Given the description of an element on the screen output the (x, y) to click on. 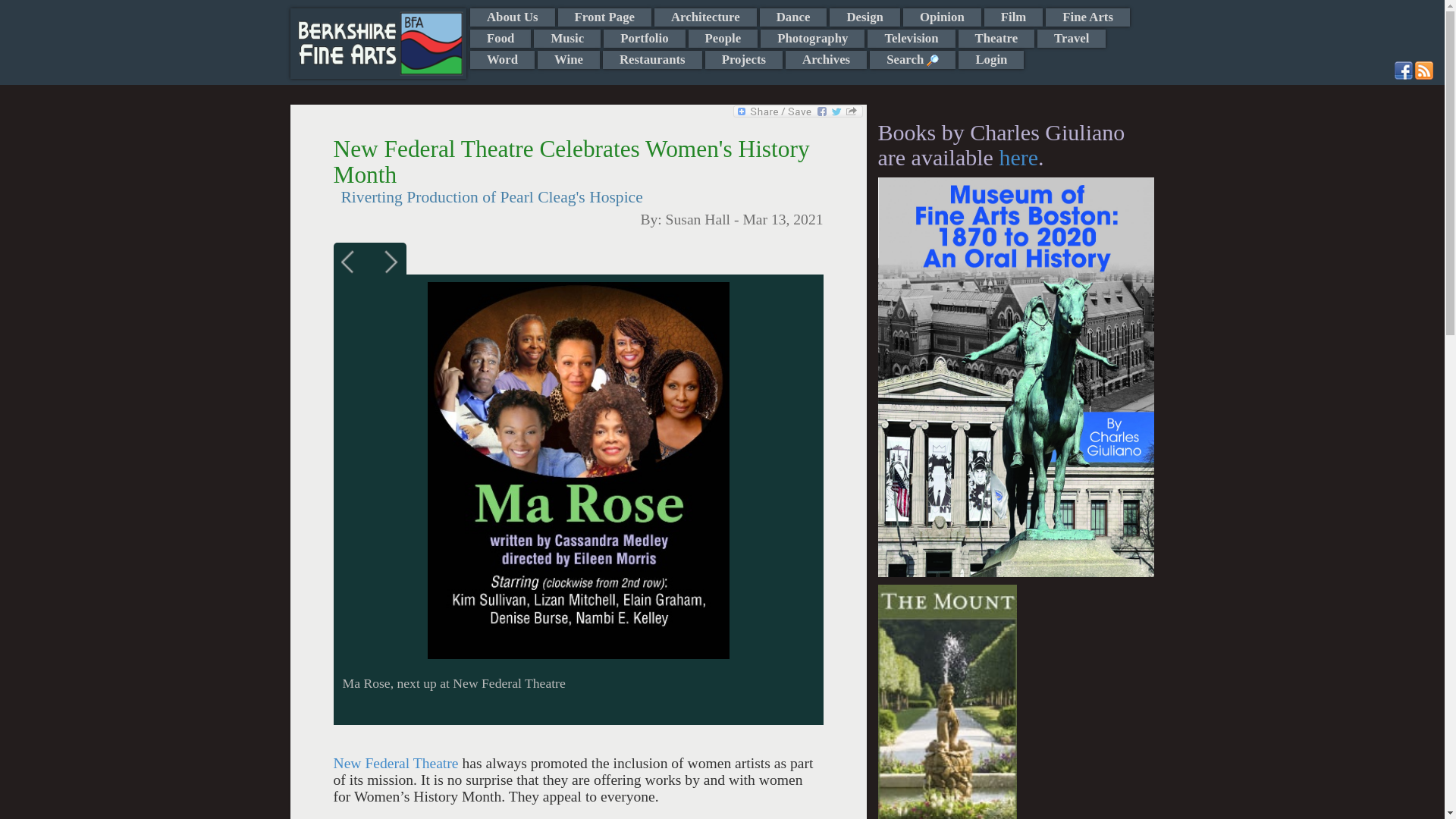
Design (864, 17)
Film (1013, 17)
Architecture (705, 17)
Opinion (941, 17)
Music (566, 38)
About Us (512, 17)
Fine Arts (1087, 17)
Front Page (603, 17)
Dance (793, 17)
Food (500, 38)
